Given the description of an element on the screen output the (x, y) to click on. 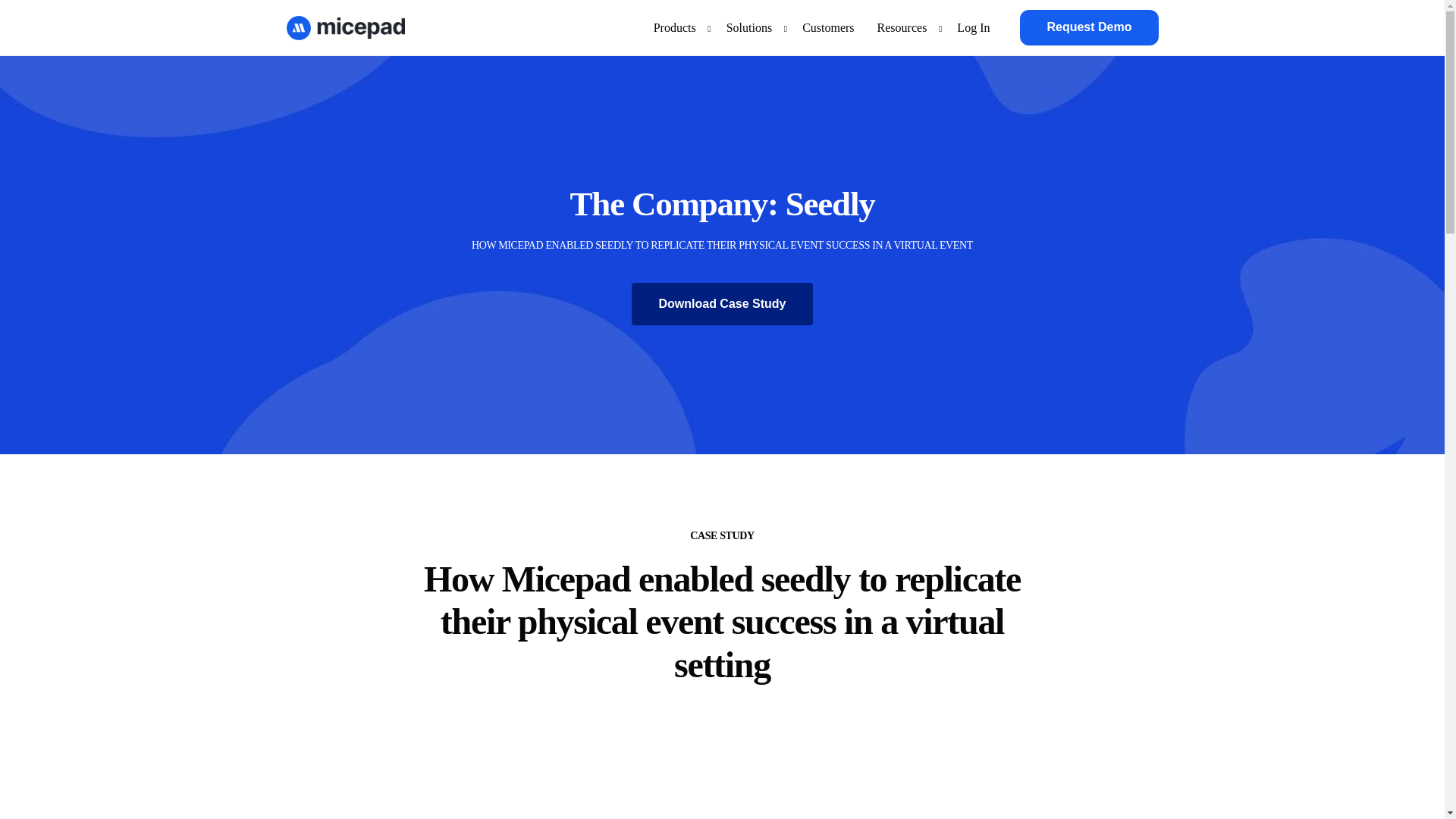
Customers (827, 27)
Resources (906, 27)
Products (678, 27)
Request Demo (1088, 27)
Solutions (752, 27)
Log In (972, 27)
Download Case Study (721, 303)
